Given the description of an element on the screen output the (x, y) to click on. 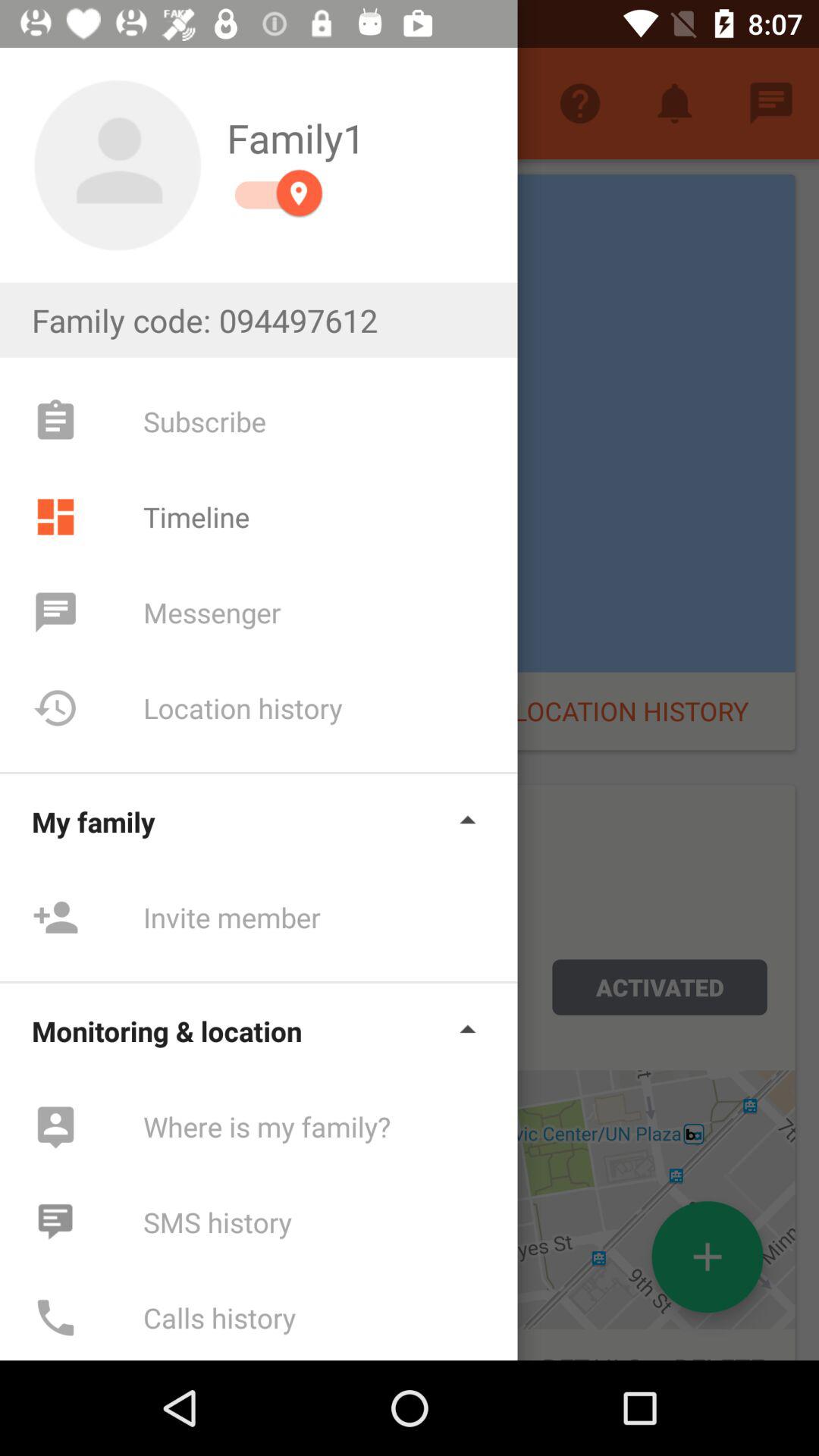
click on activated button (659, 986)
click on icon beside timeline (55, 516)
select icon next to location history (55, 708)
